Given the description of an element on the screen output the (x, y) to click on. 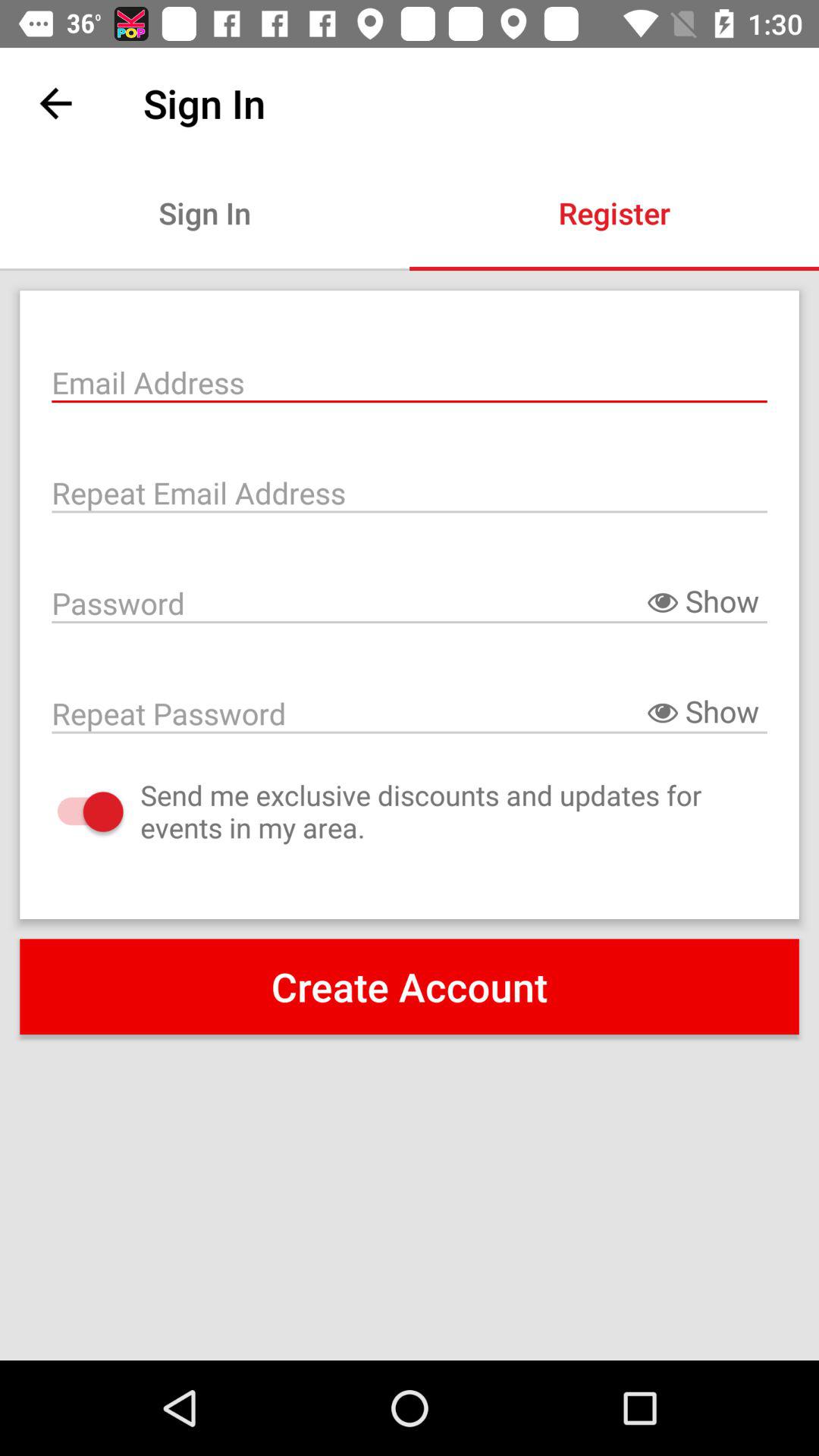
enter email address (409, 381)
